Given the description of an element on the screen output the (x, y) to click on. 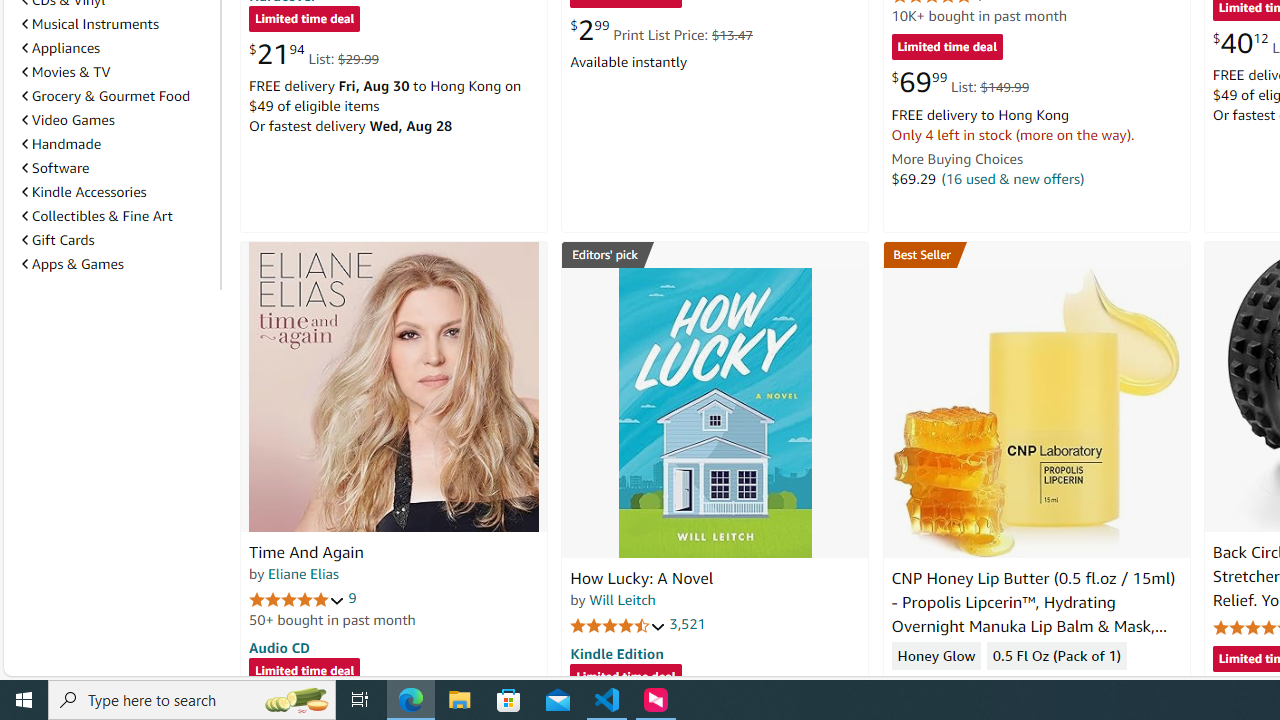
Collectibles & Fine Art (117, 215)
5.0 out of 5 stars (297, 598)
Kindle Accessories (117, 192)
Appliances (61, 47)
Gift Cards (57, 240)
How Lucky: A Novel (641, 578)
Time And Again (306, 552)
Gift Cards (117, 239)
How Lucky: A Novel (714, 412)
Audio CD (279, 646)
4.3 out of 5 stars (939, 685)
Apps & Games (72, 263)
Limited time deal (625, 678)
